Given the description of an element on the screen output the (x, y) to click on. 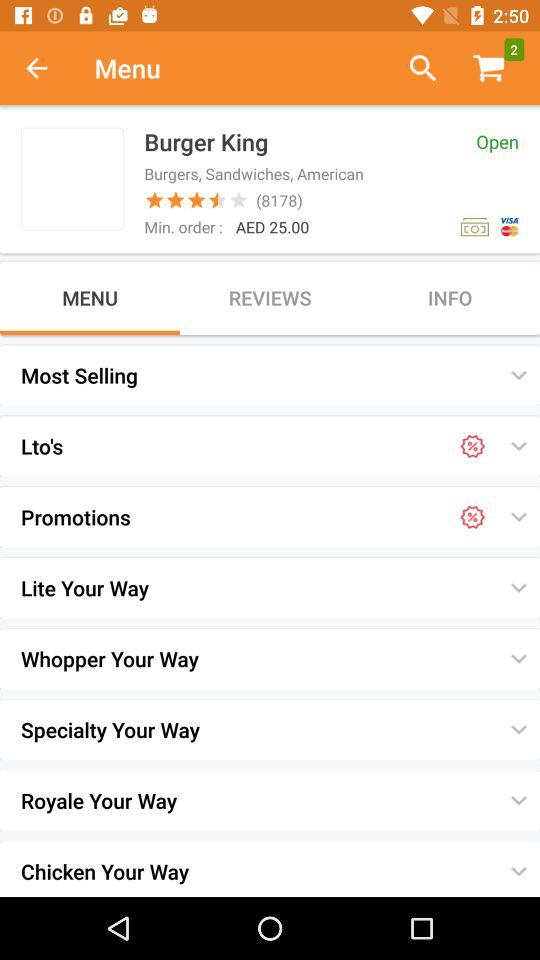
go back to last page (47, 68)
